Given the description of an element on the screen output the (x, y) to click on. 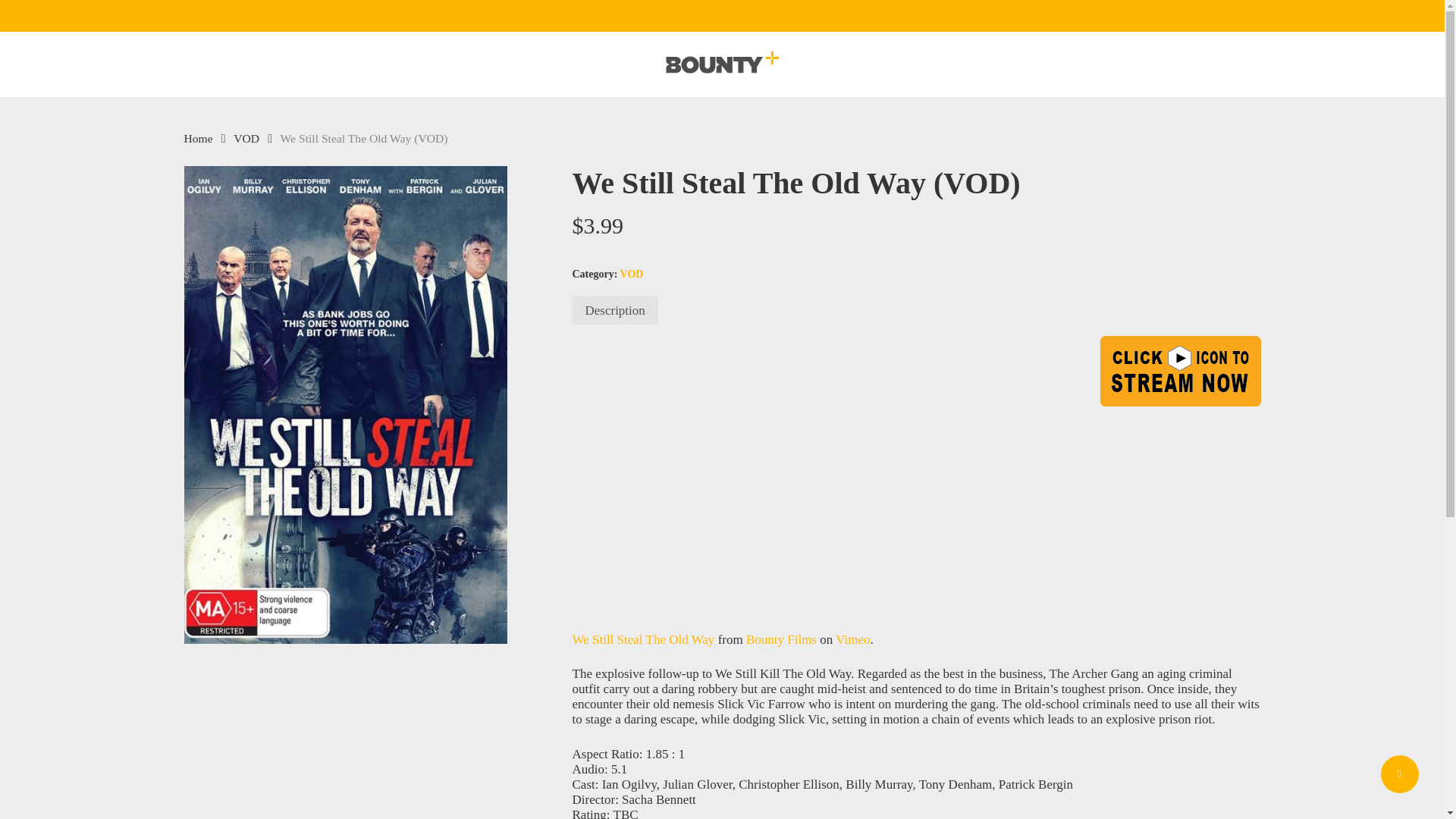
Bounty Films (780, 639)
VOD (245, 138)
Home (197, 138)
VOD (631, 273)
Vimeo (852, 639)
Description (615, 310)
We Still Steal The Old Way (643, 639)
